Given the description of an element on the screen output the (x, y) to click on. 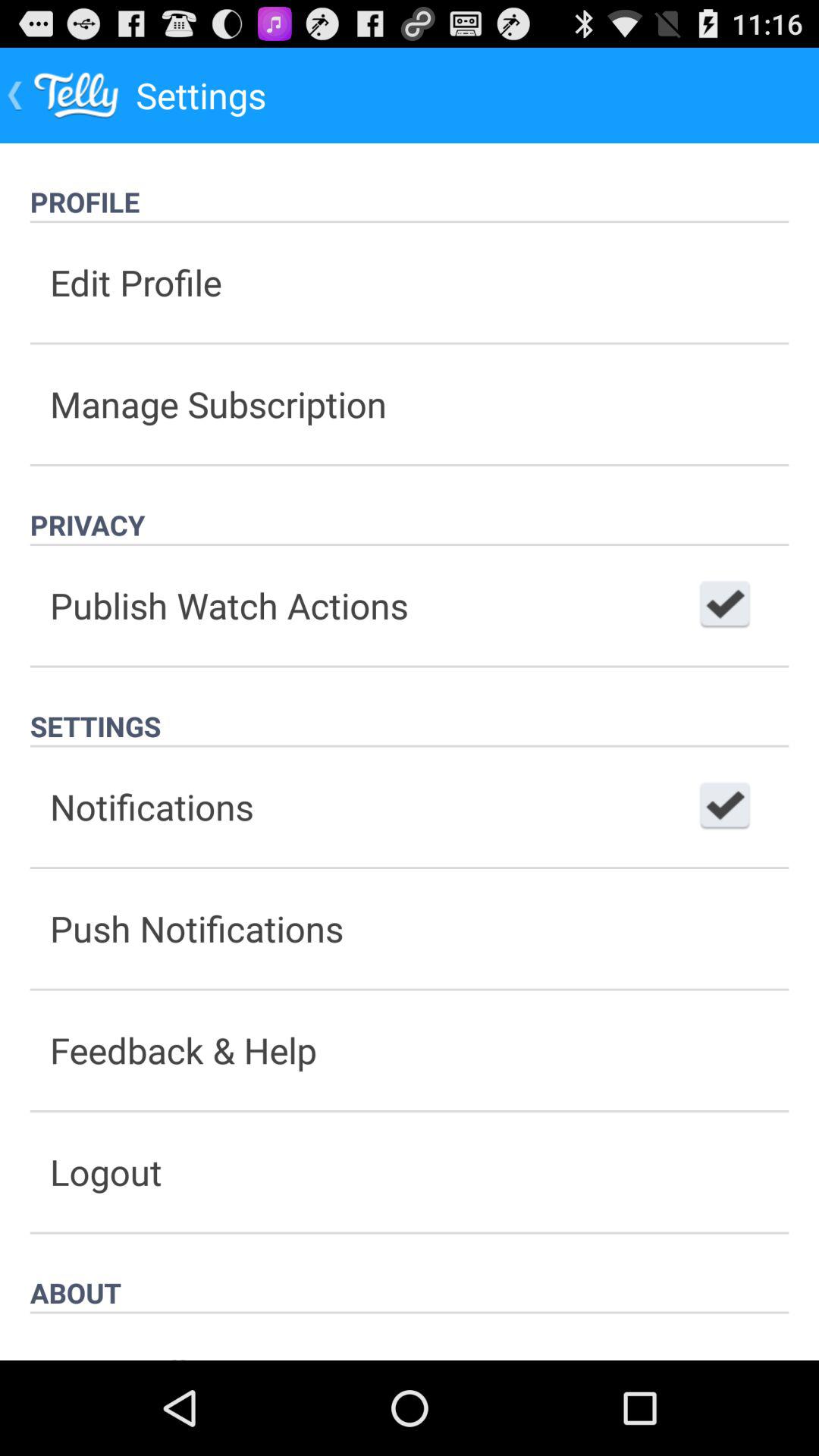
flip to the manage subscription (409, 404)
